Given the description of an element on the screen output the (x, y) to click on. 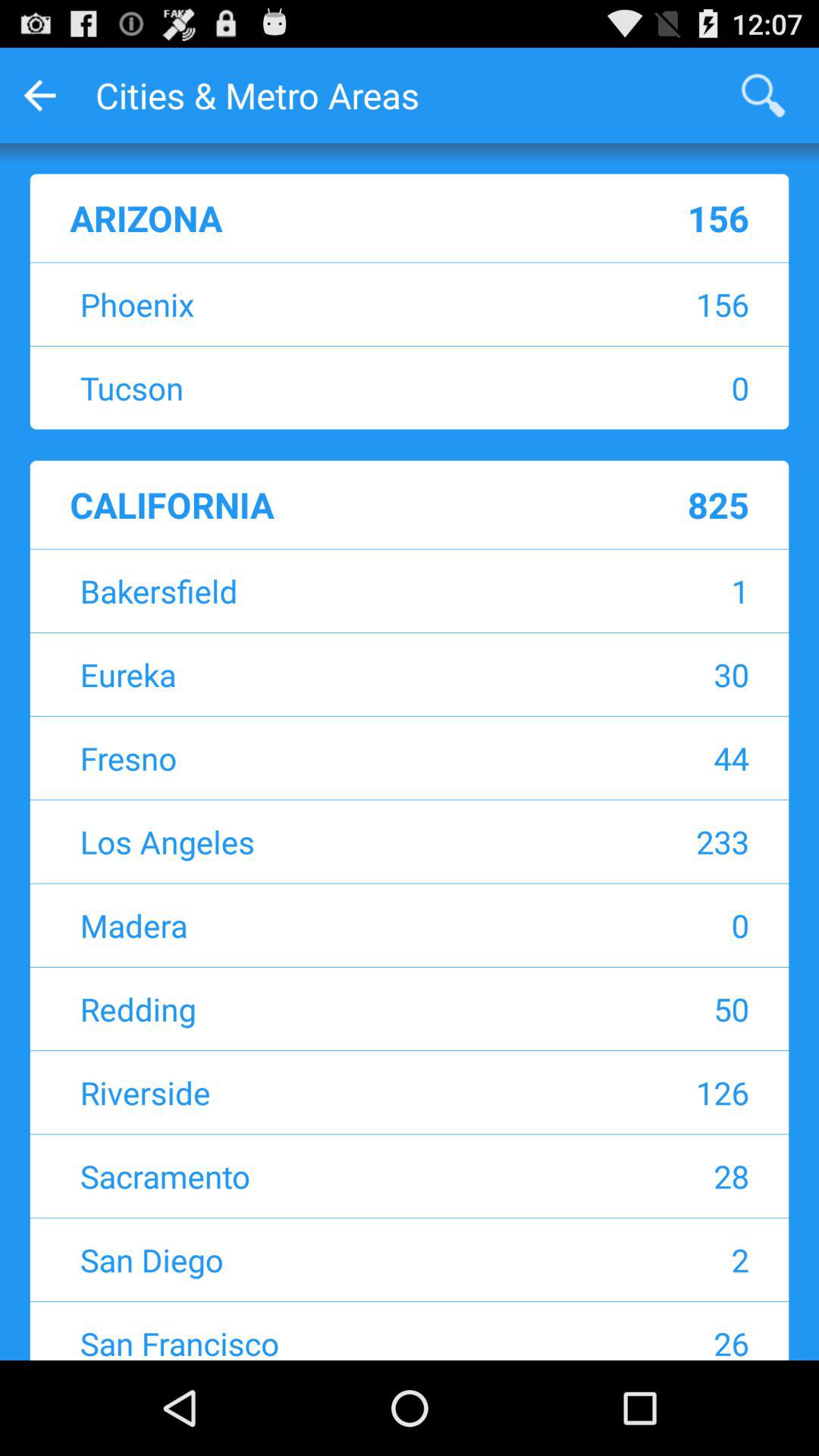
choose the icon above the eureka app (649, 590)
